Given the description of an element on the screen output the (x, y) to click on. 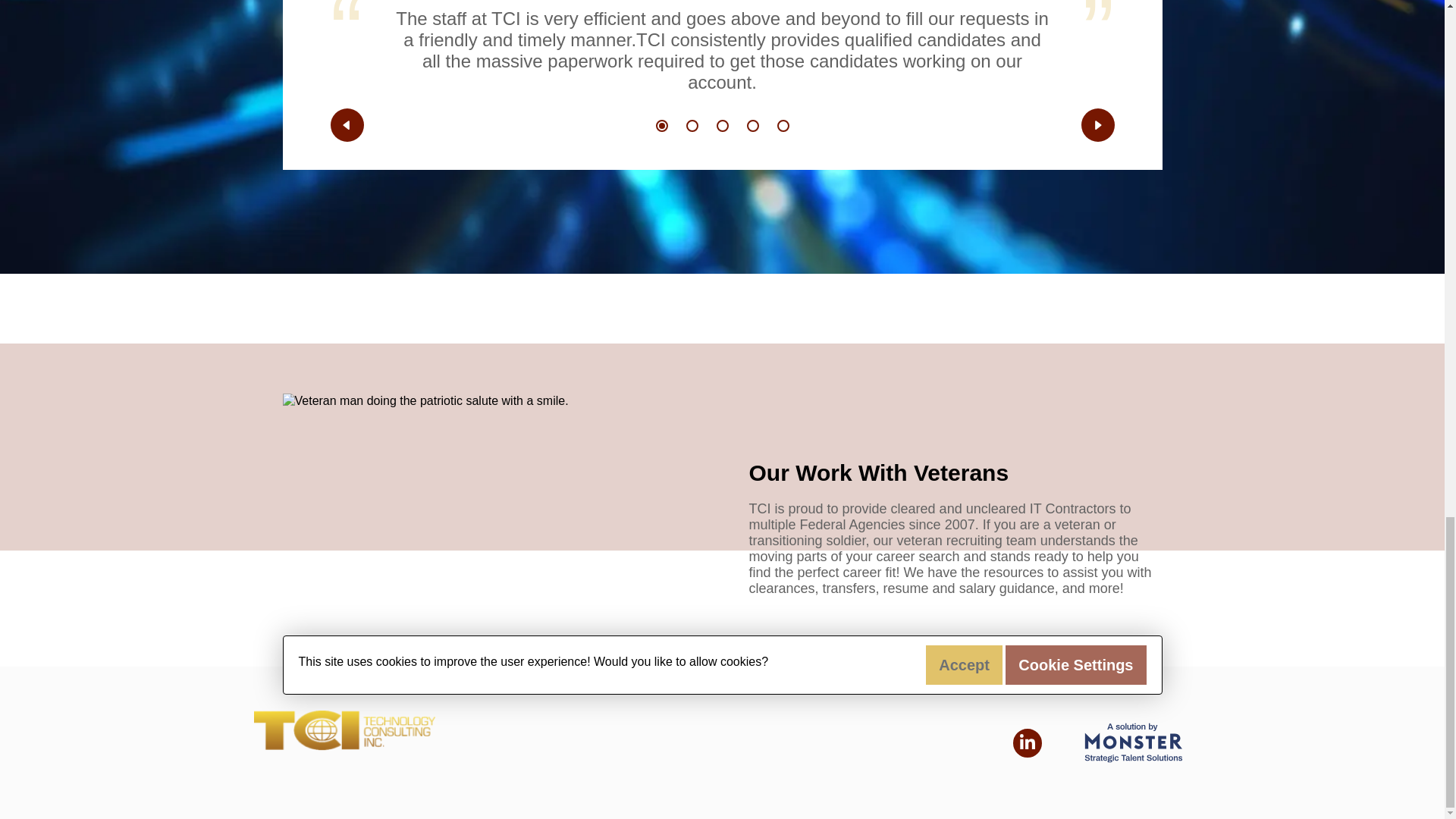
testimonial 3 (722, 125)
Previous testimonial (347, 124)
Visit our LinkedIn page (1027, 742)
testimonial 4 (751, 125)
testimonial 1 (660, 125)
Next testimonial (1098, 124)
testimonial 5 (782, 125)
testimonial 2 (691, 125)
